Given the description of an element on the screen output the (x, y) to click on. 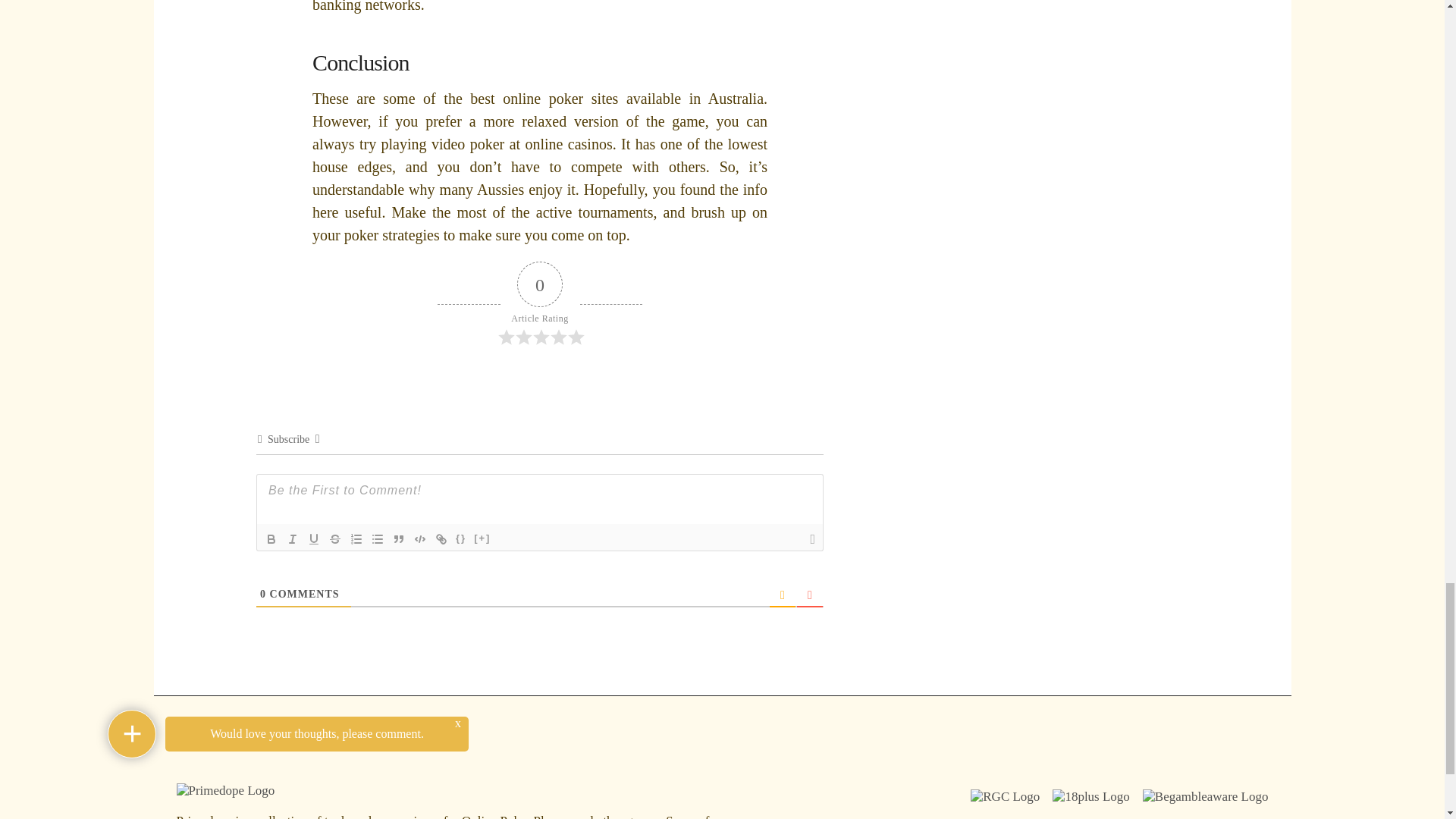
Link (440, 538)
Bold (271, 538)
Blockquote (398, 538)
Spoiler (482, 538)
Underline (313, 538)
Source Code (460, 538)
Unordered List (377, 538)
Italic (292, 538)
Code Block (419, 538)
Ordered List (356, 538)
Strike (335, 538)
